Given the description of an element on the screen output the (x, y) to click on. 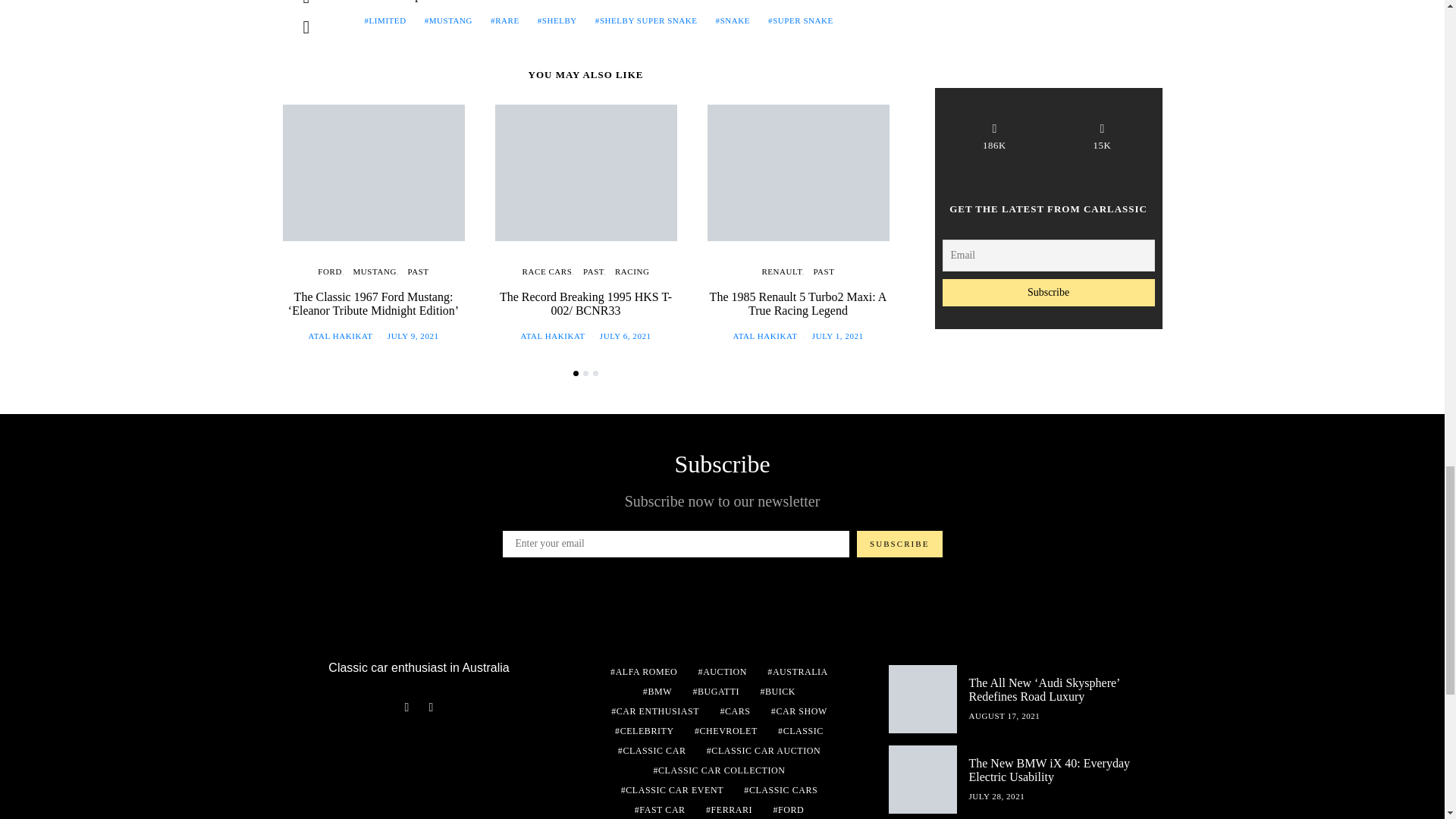
View all posts by Atal Hakikat (339, 335)
View all posts by Atal Hakikat (552, 335)
View all posts by Atal Hakikat (764, 335)
